Given the description of an element on the screen output the (x, y) to click on. 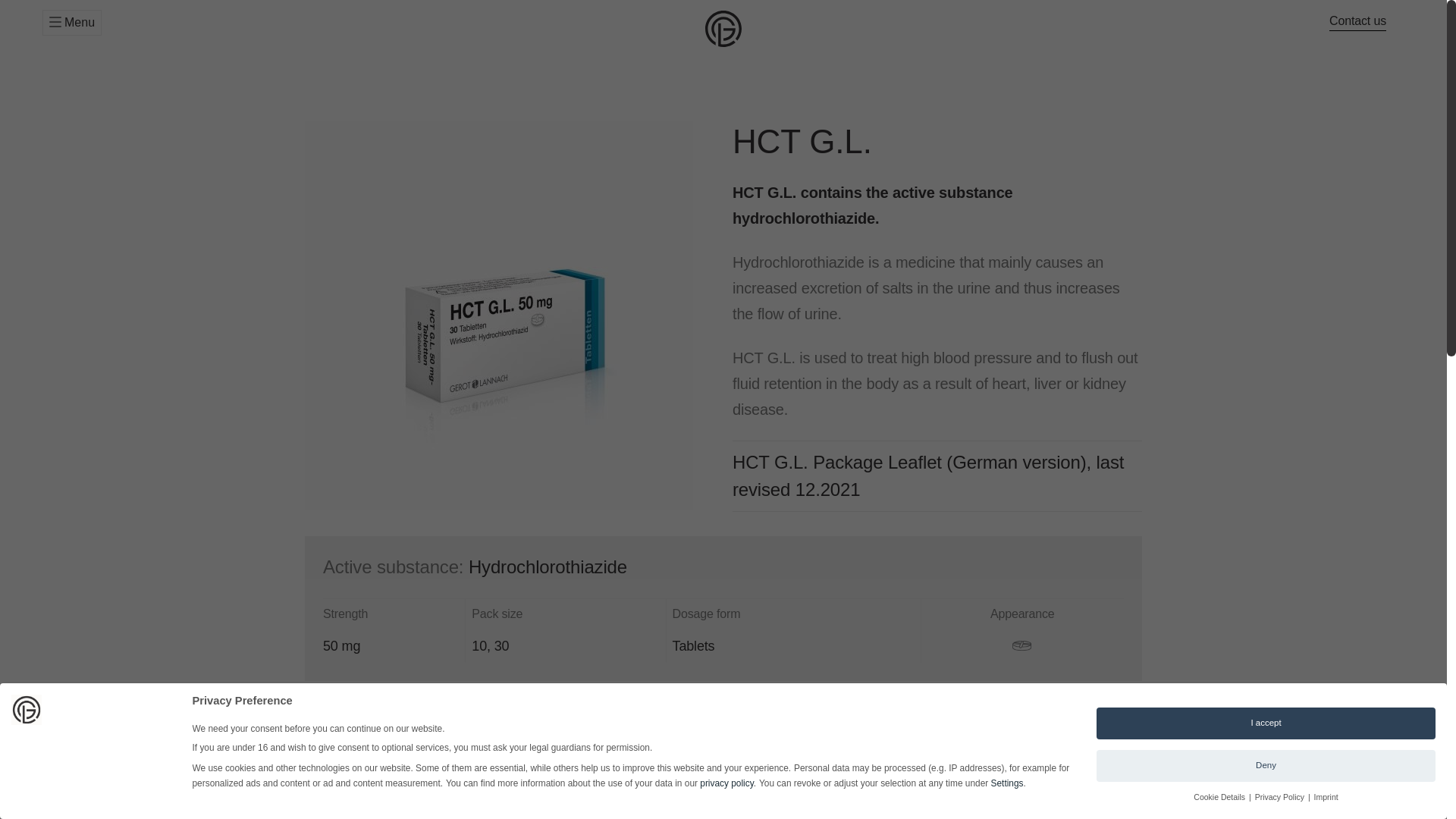
Menu (71, 22)
Contact us (1357, 21)
